Given the description of an element on the screen output the (x, y) to click on. 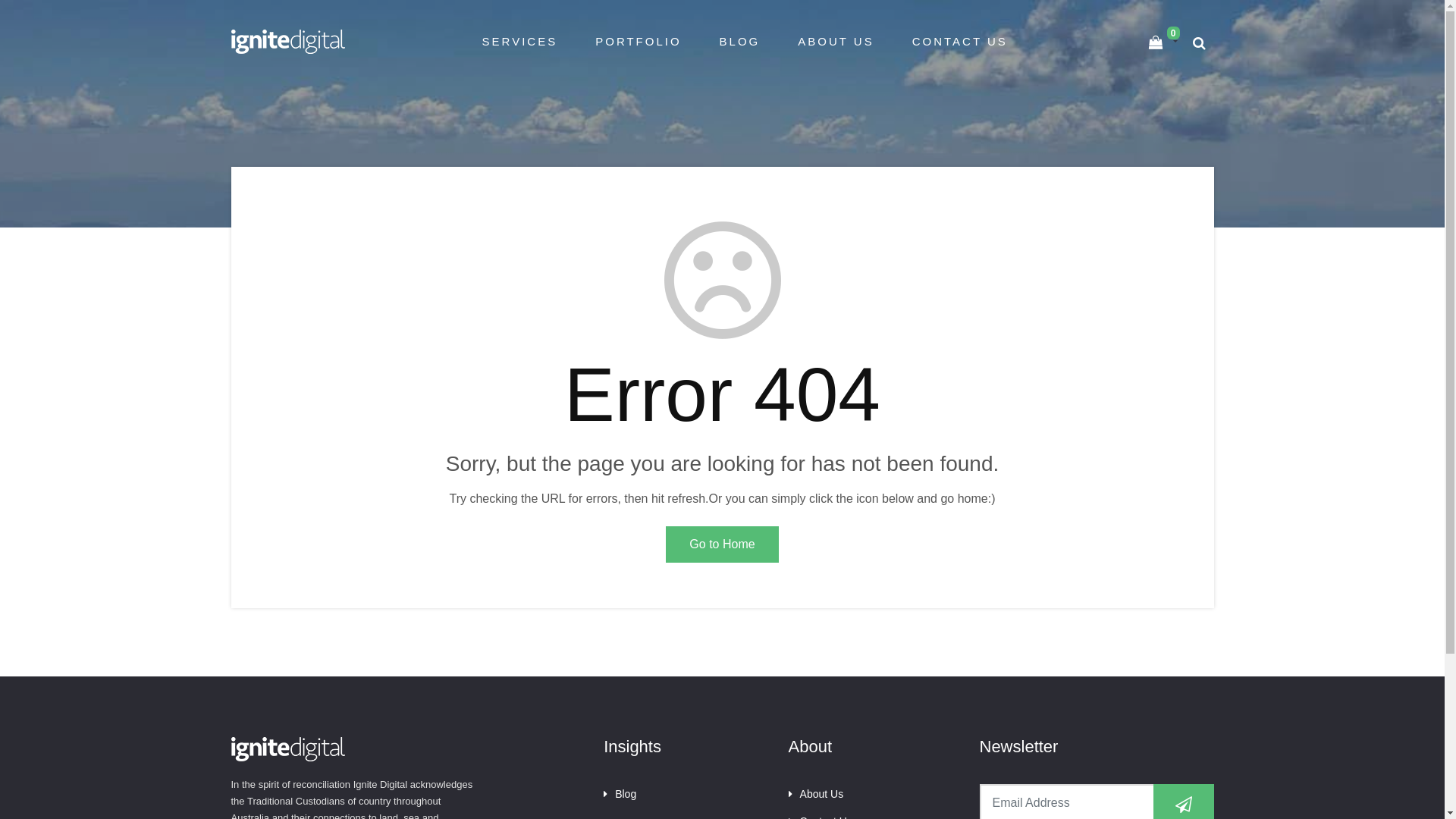
0 Element type: text (1163, 41)
SERVICES Element type: text (520, 41)
Blog Element type: text (619, 793)
BLOG Element type: text (739, 41)
Go to Home Element type: text (721, 544)
CONTACT US Element type: text (959, 41)
About Us Element type: text (816, 793)
PORTFOLIO Element type: text (638, 41)
ABOUT US Element type: text (835, 41)
